Given the description of an element on the screen output the (x, y) to click on. 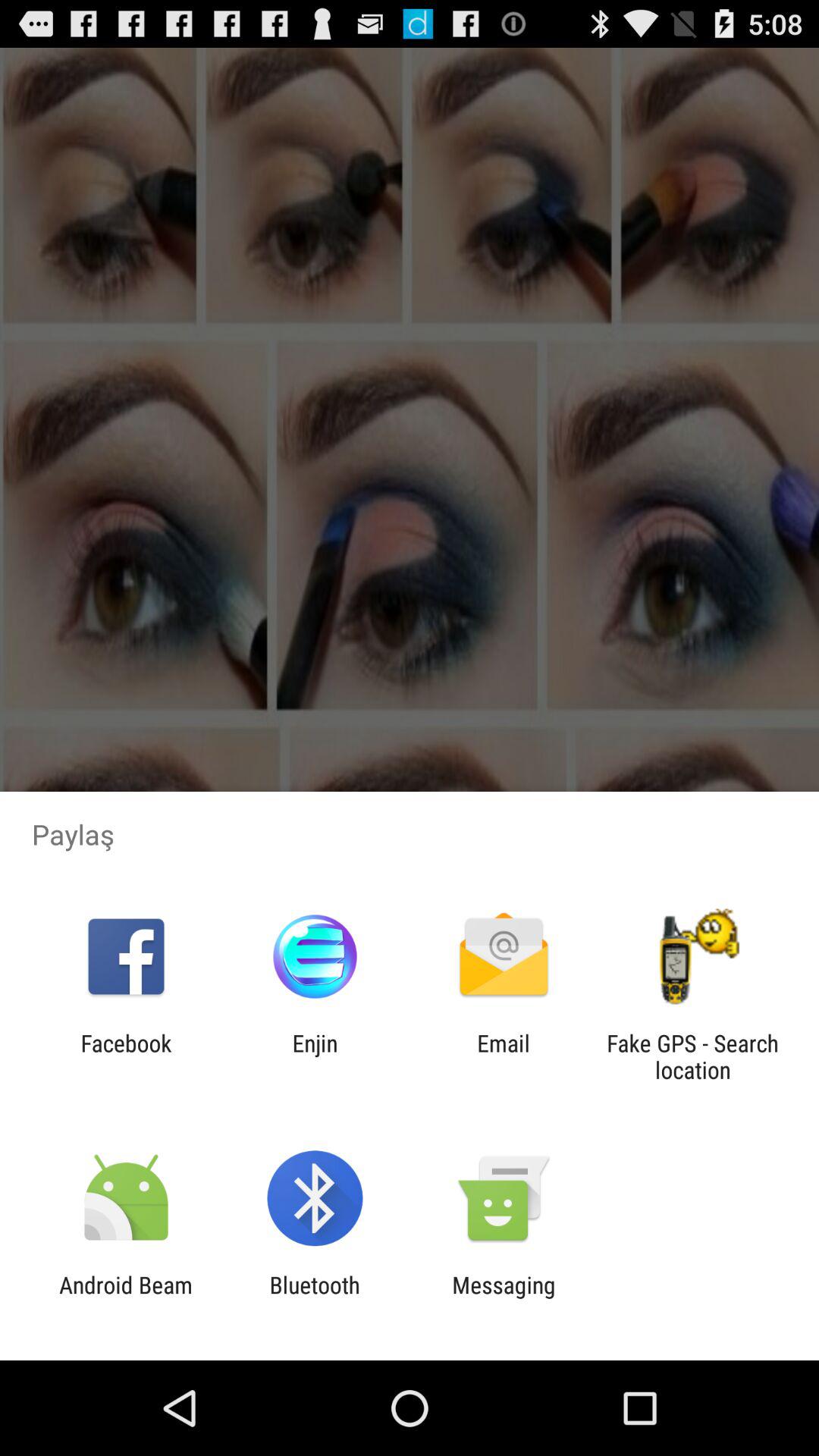
jump until fake gps search app (692, 1056)
